Given the description of an element on the screen output the (x, y) to click on. 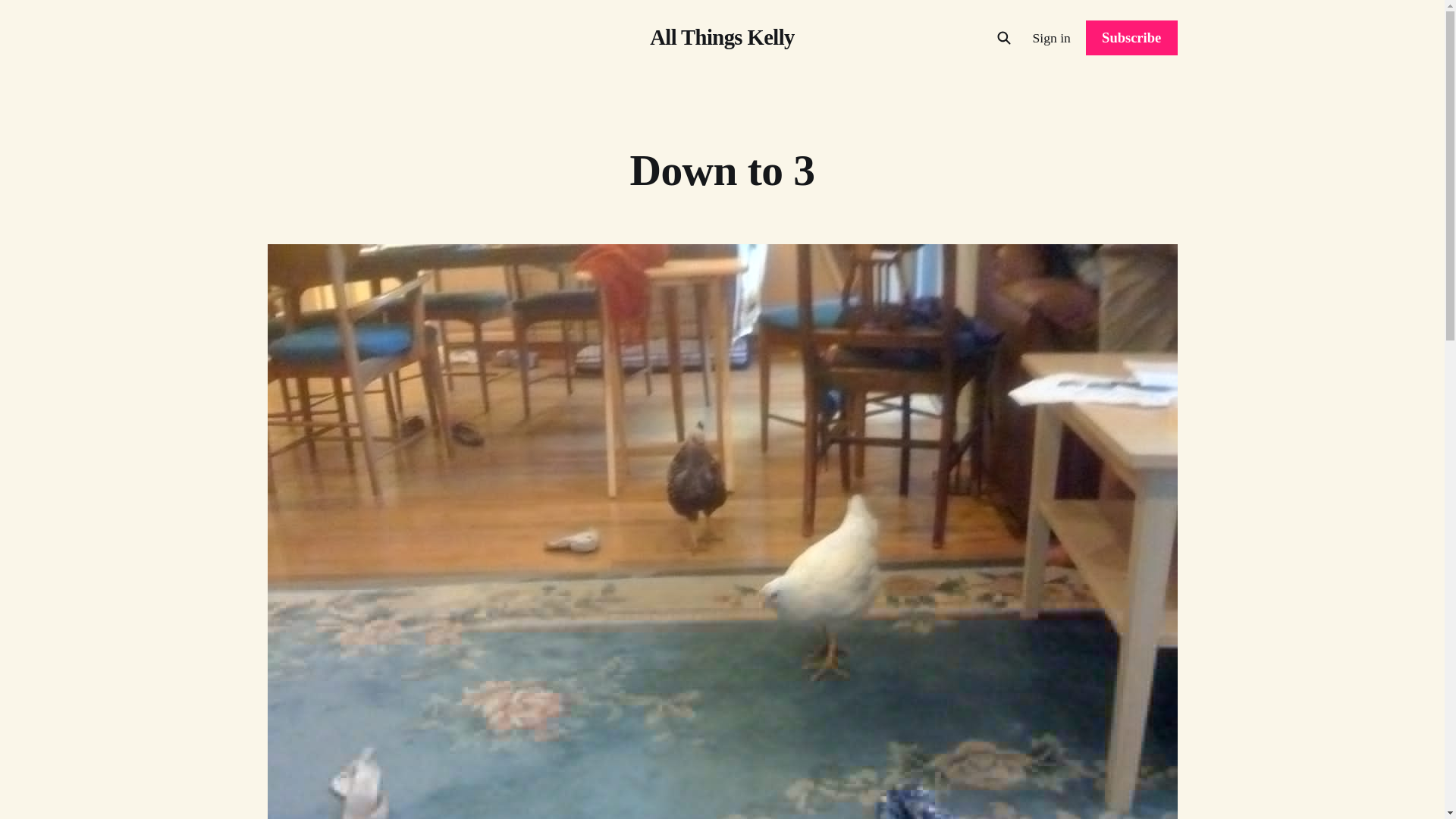
All Things Kelly (721, 38)
Subscribe (1131, 37)
Sign in (1051, 37)
